Given the description of an element on the screen output the (x, y) to click on. 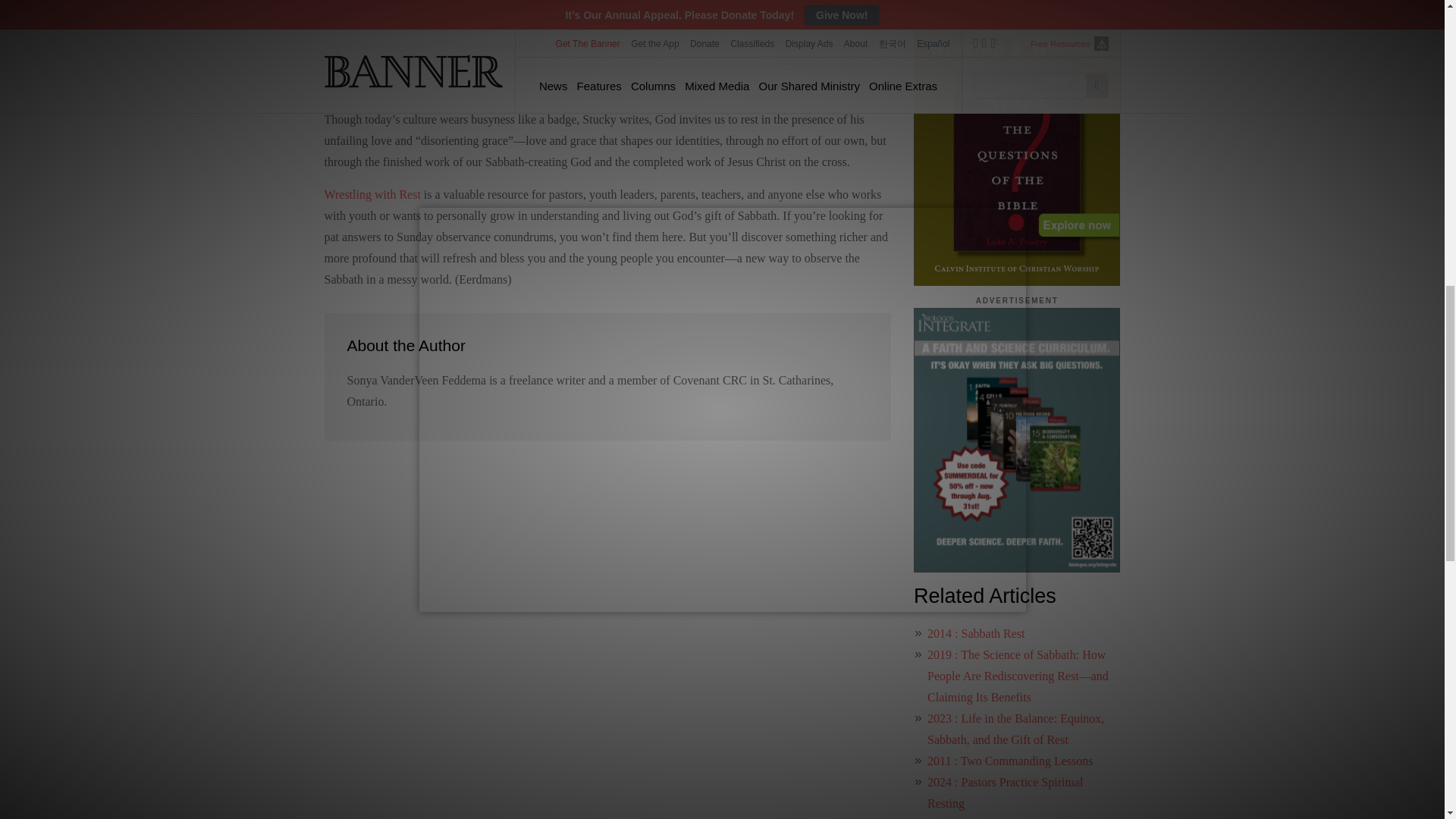
Wrestling with Rest (372, 194)
2011 : Two Commanding Lessons (1010, 760)
2024 : Pastors Practice Spiritual Resting (1005, 792)
2014 : Sabbath Rest (976, 633)
